Given the description of an element on the screen output the (x, y) to click on. 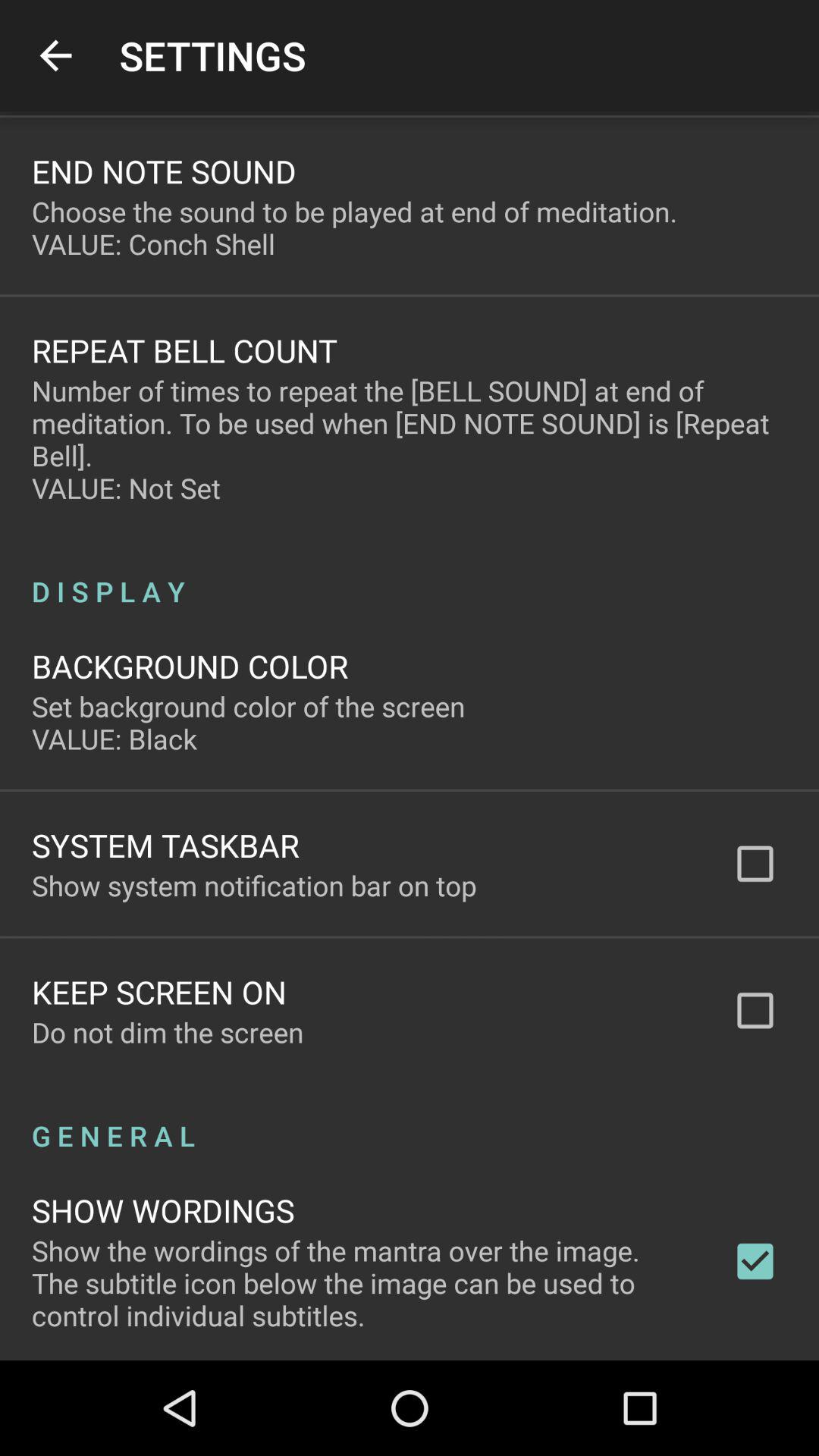
click the item above the end note sound (55, 55)
